Given the description of an element on the screen output the (x, y) to click on. 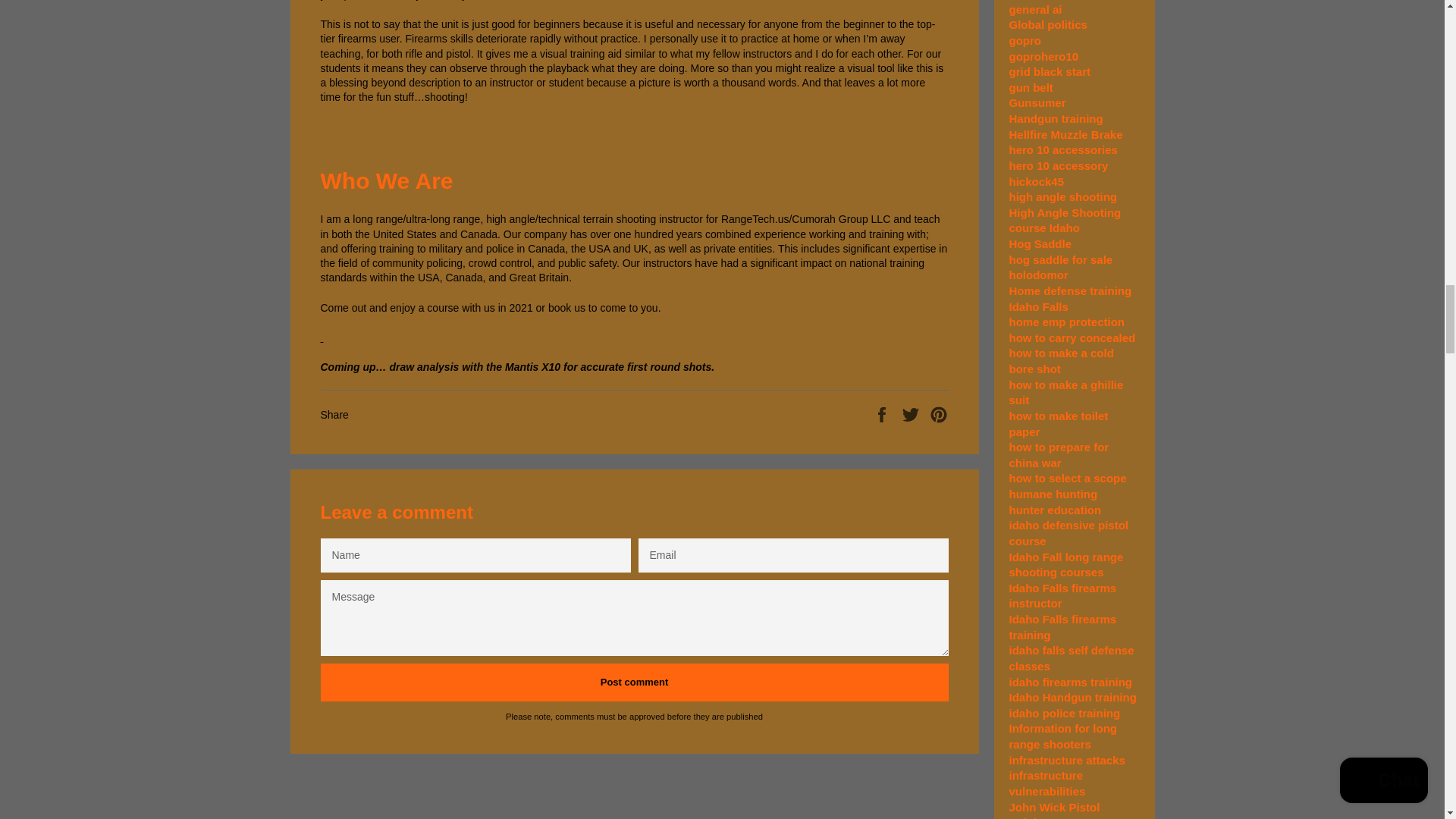
Pin on Pinterest (938, 413)
Tweet on Twitter (912, 413)
Share on Facebook (882, 413)
Post comment (633, 682)
